Given the description of an element on the screen output the (x, y) to click on. 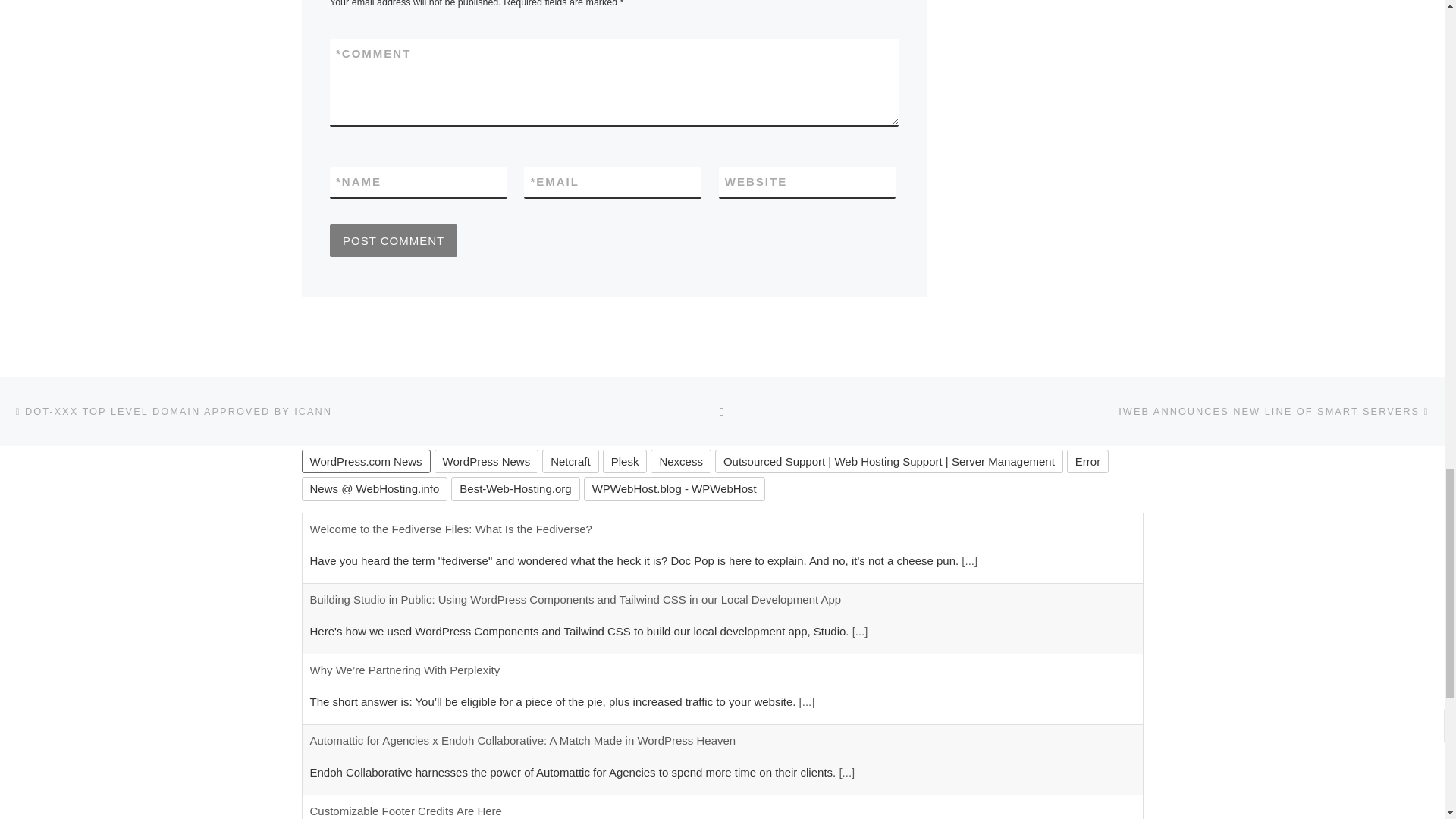
Post Comment (393, 240)
